Given the description of an element on the screen output the (x, y) to click on. 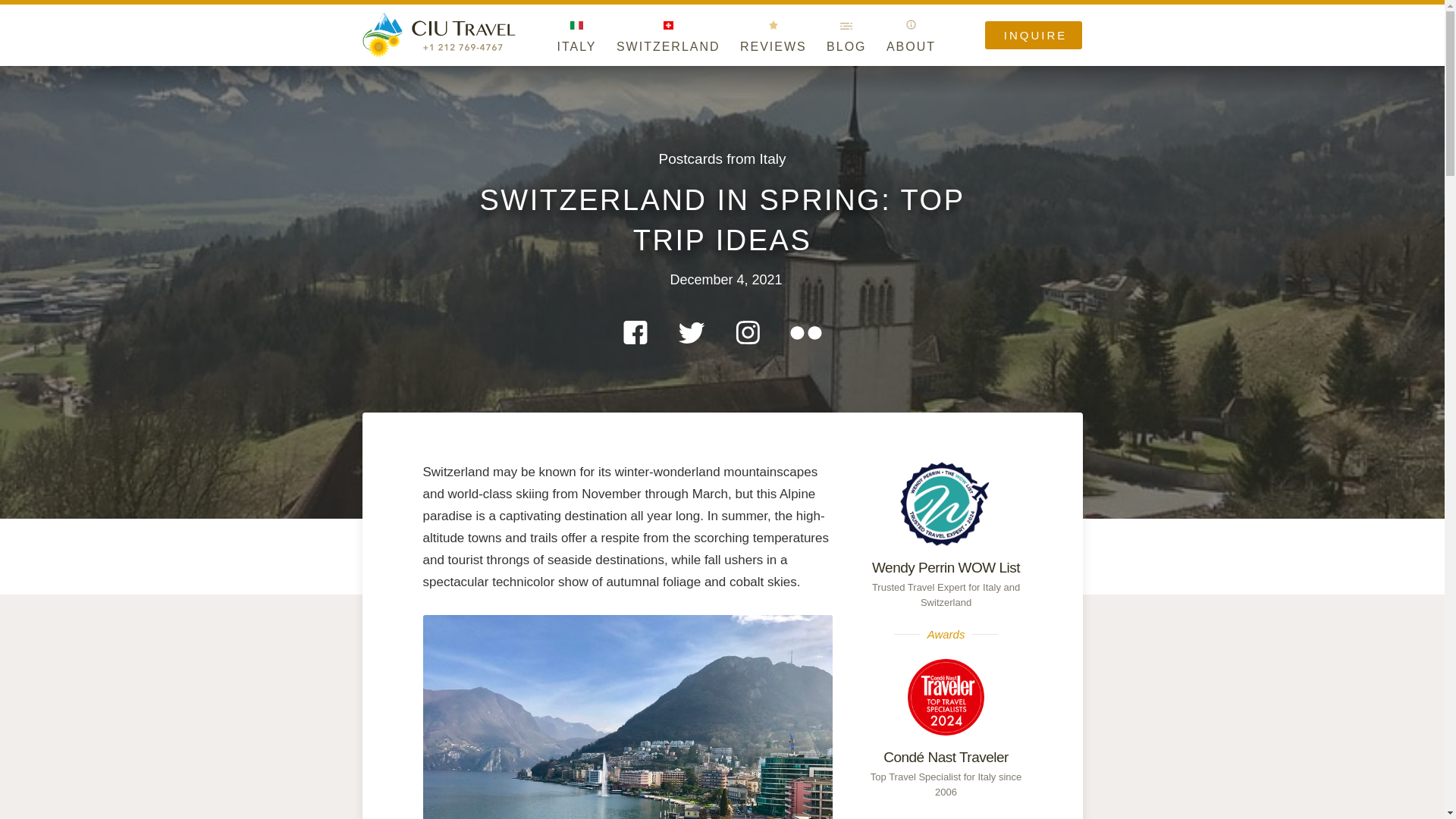
REVIEWS (772, 46)
ABOUT (911, 46)
ITALY (575, 46)
SWITZERLAND (667, 46)
INQUIRE (1034, 35)
BLOG (846, 46)
